Given the description of an element on the screen output the (x, y) to click on. 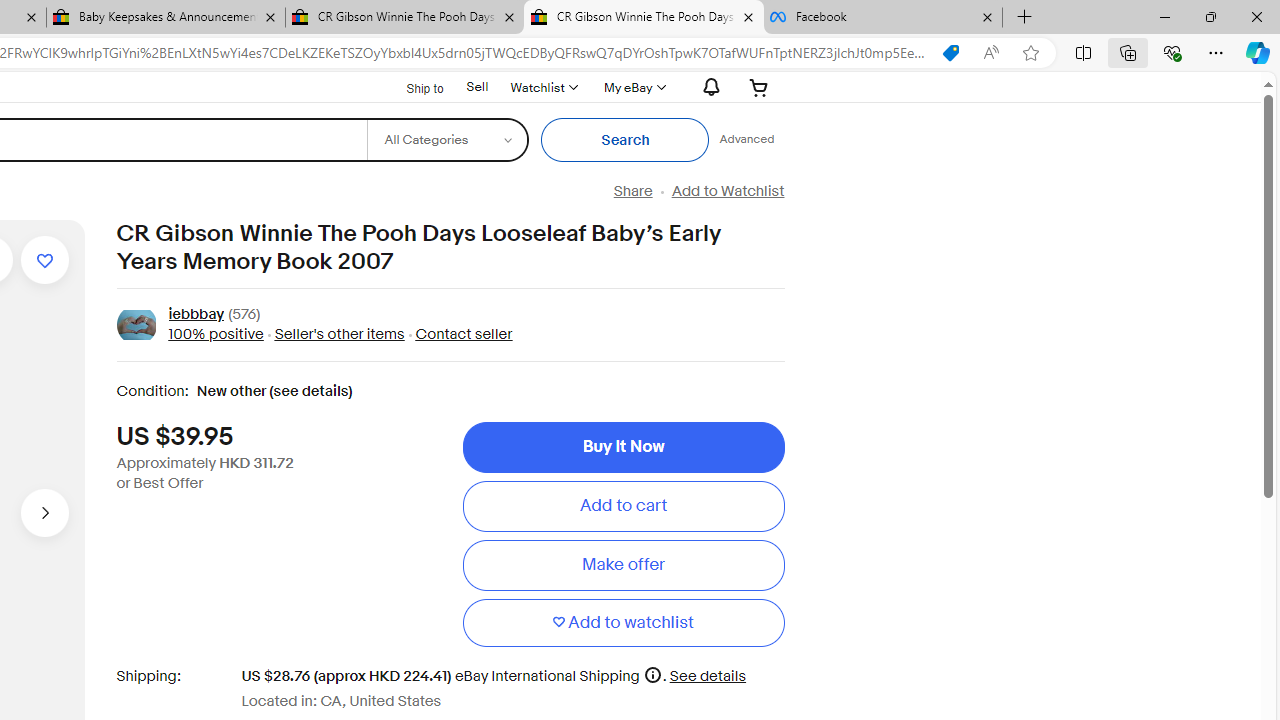
AutomationID: gh-shipto-click (412, 85)
Facebook (883, 17)
You have the best price! (950, 53)
